Given the description of an element on the screen output the (x, y) to click on. 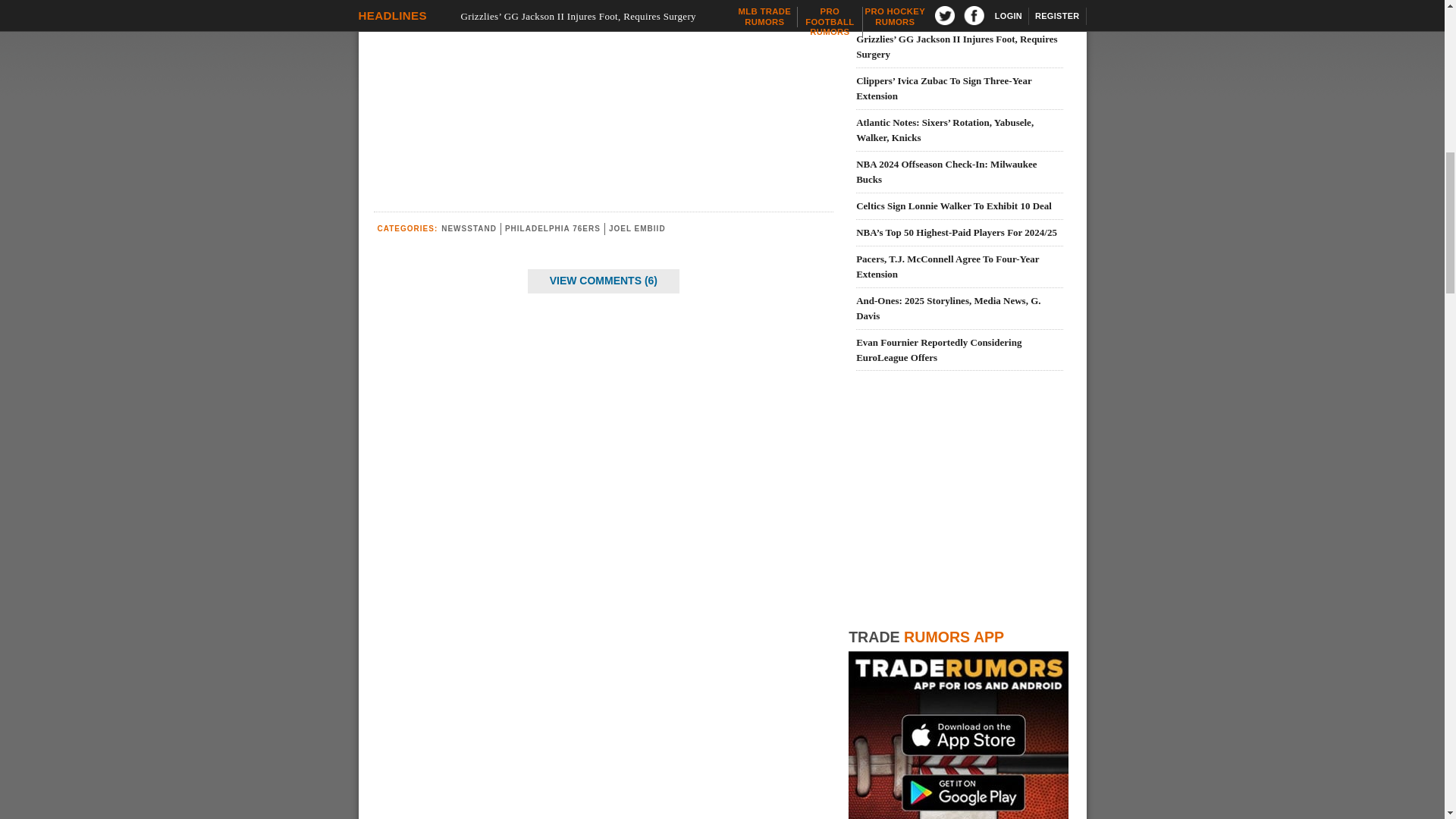
View all posts in Philadelphia 76ers (552, 228)
View all posts in Newsstand (468, 228)
View all posts in Joel Embiid (636, 228)
